Given the description of an element on the screen output the (x, y) to click on. 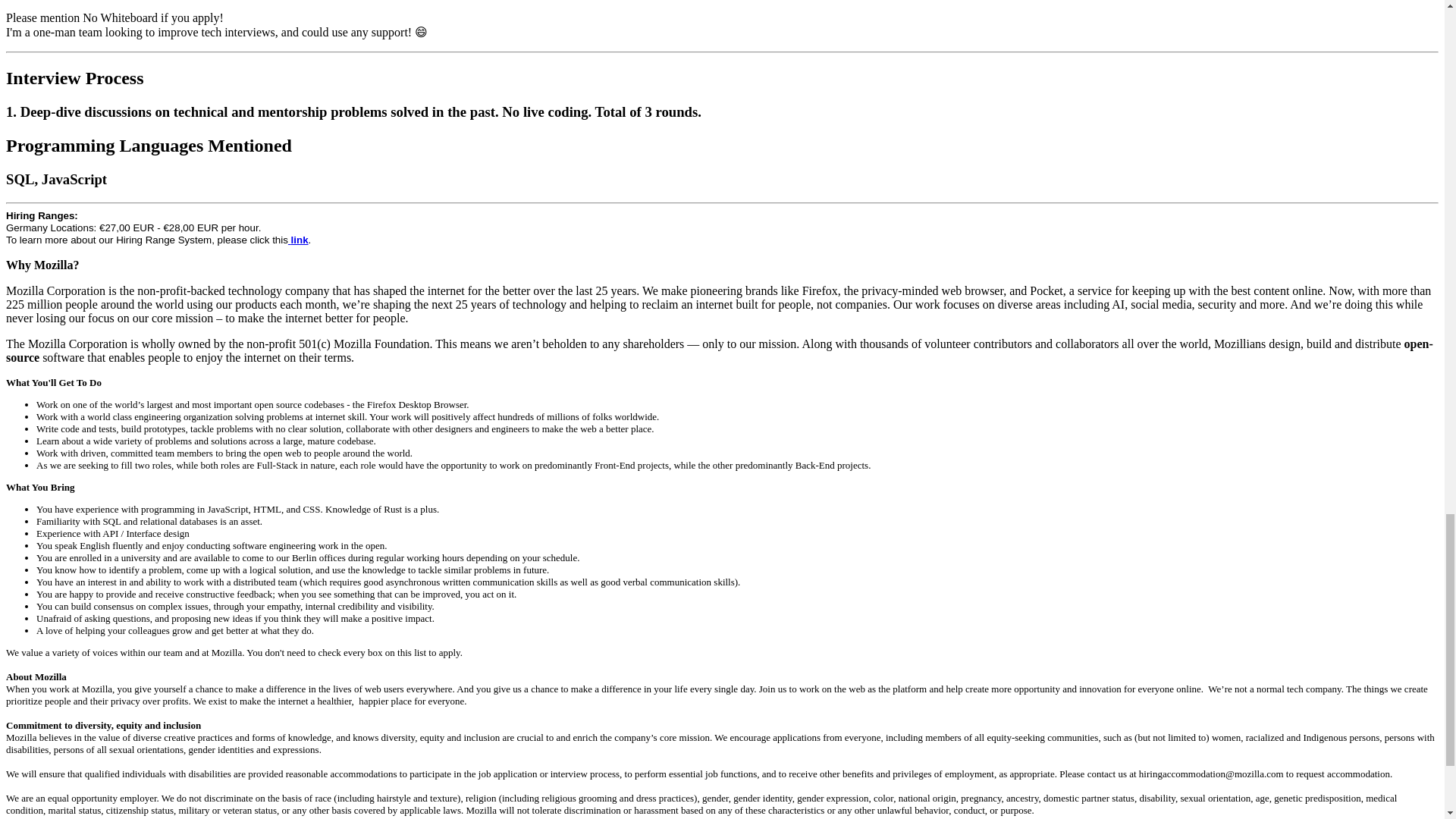
link (298, 239)
